Given the description of an element on the screen output the (x, y) to click on. 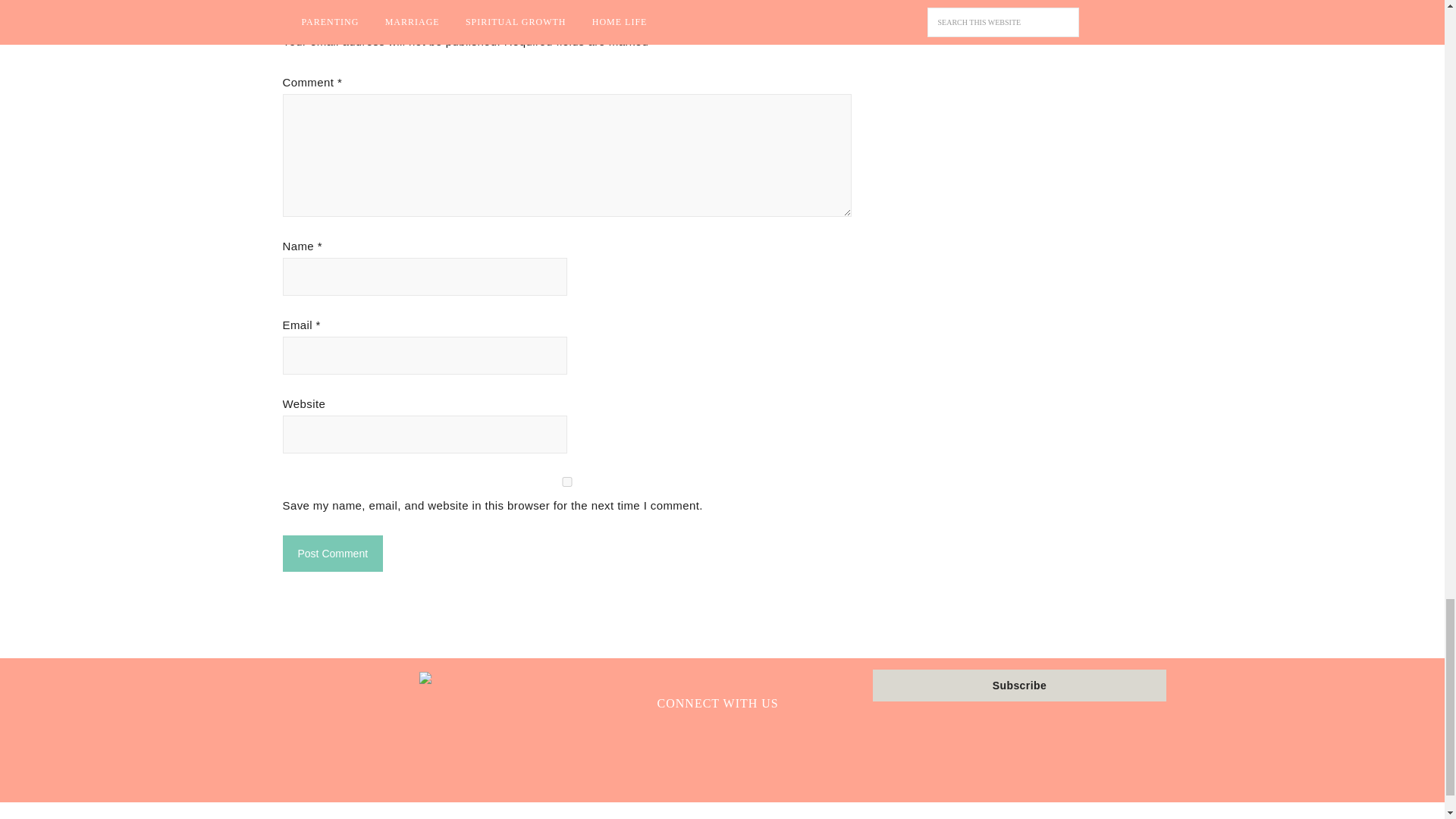
Post Comment (332, 553)
yes (566, 481)
Post Comment (332, 553)
